Given the description of an element on the screen output the (x, y) to click on. 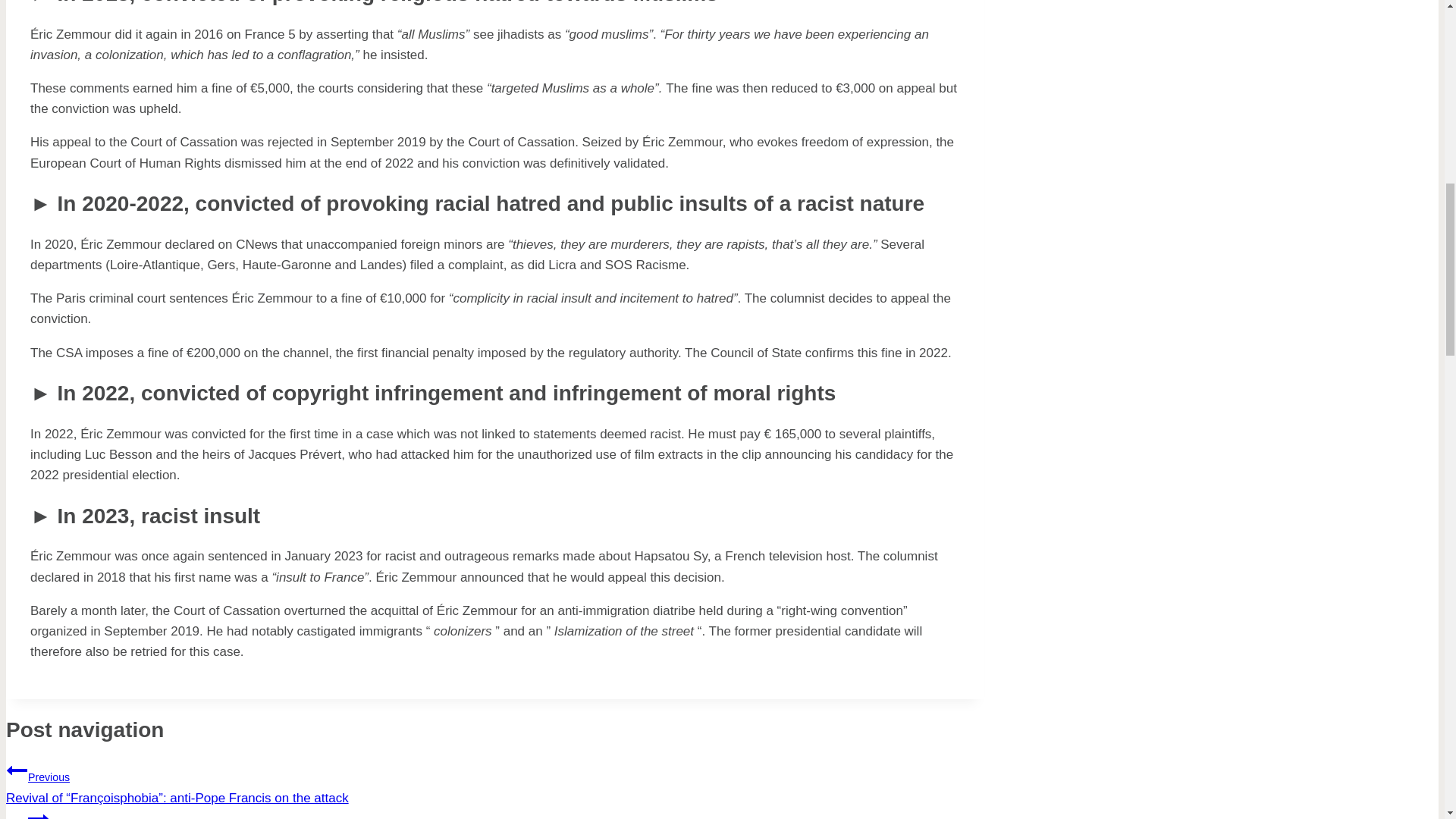
Continue (37, 813)
Previous (16, 770)
